Given the description of an element on the screen output the (x, y) to click on. 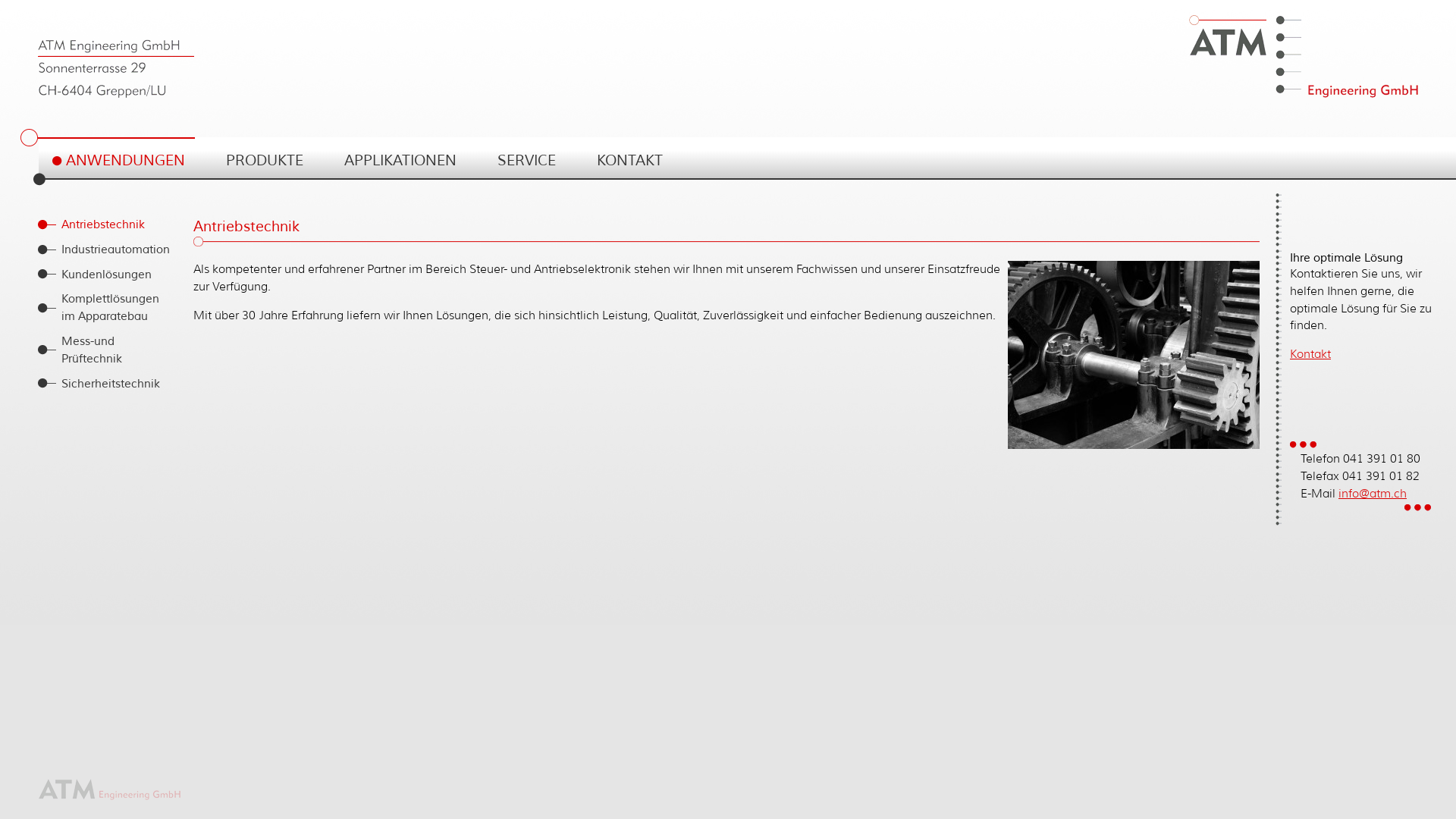
Sicherheitstechnik Element type: text (101, 383)
info@atm.ch Element type: text (1372, 493)
APPLIKATIONEN Element type: text (393, 161)
PRODUKTE Element type: text (257, 161)
SERVICE Element type: text (519, 161)
Industrieautomation Element type: text (101, 249)
KONTAKT Element type: text (622, 161)
ANWENDUNGEN Element type: text (118, 161)
Kontakt Element type: text (1309, 353)
Antriebstechnik Element type: text (101, 224)
